Given the description of an element on the screen output the (x, y) to click on. 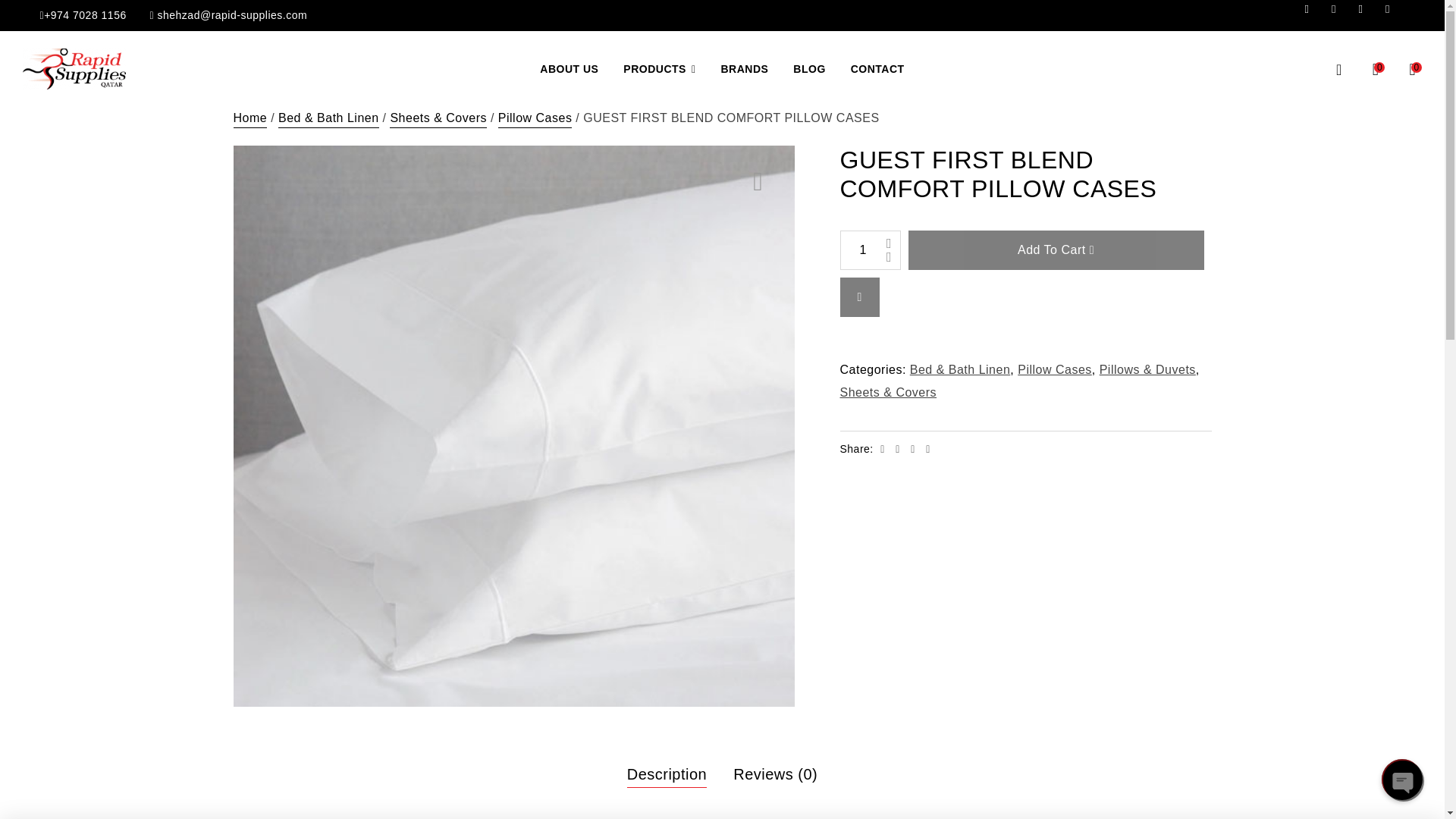
Share on facebook (883, 449)
Email to a Friend (927, 449)
Share on LinkedIn (914, 449)
ABOUT US (568, 67)
1 (870, 250)
Share on Twitter (899, 449)
PRODUCTS (659, 67)
View your shopping cart (1412, 68)
Qty (870, 250)
